Given the description of an element on the screen output the (x, y) to click on. 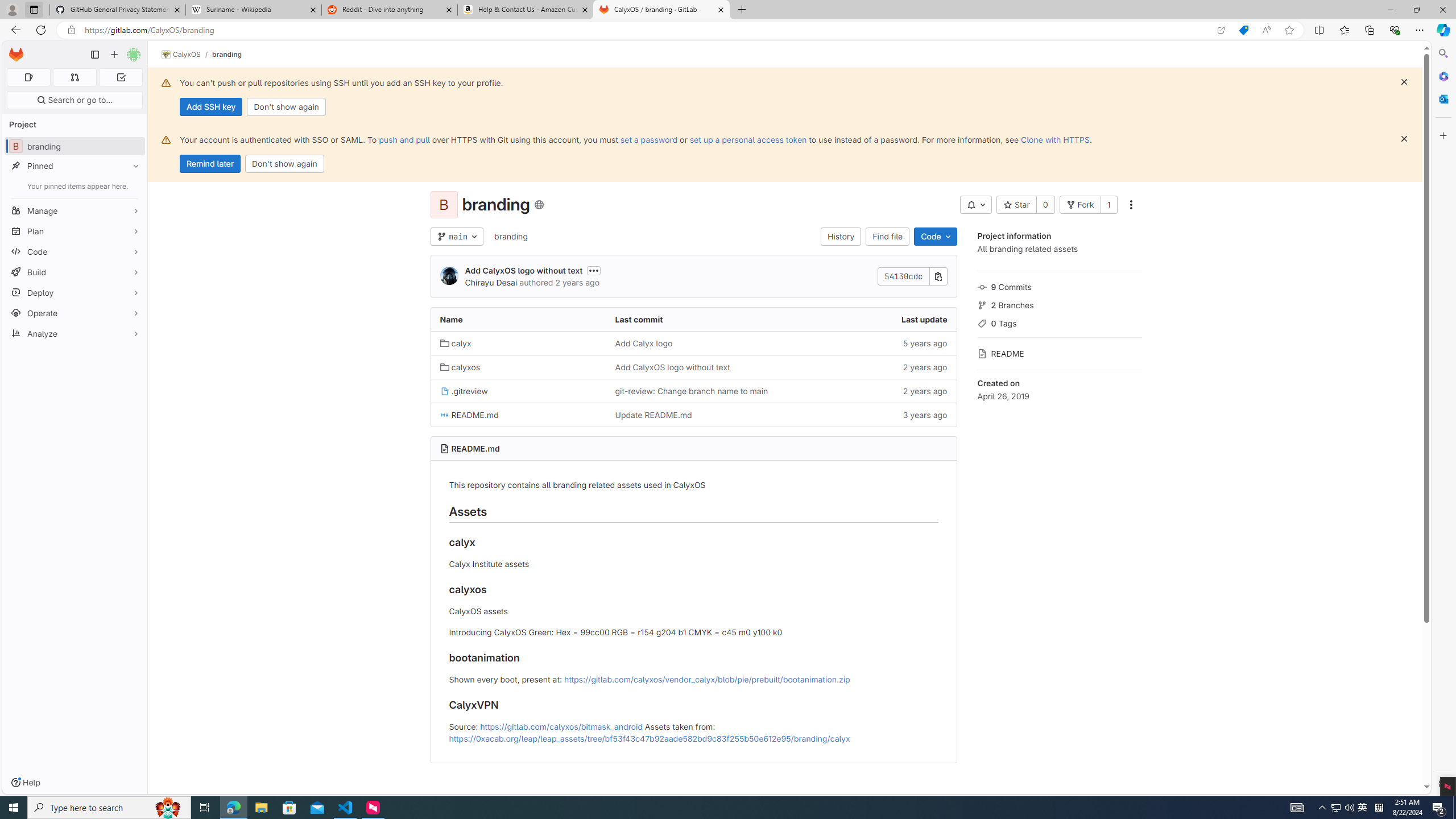
9 Commits (1058, 286)
git-review: Change branch name to main (693, 390)
Class: s16 icon gl-mr-3 gl-text-gray-500 (981, 353)
Bbranding (74, 145)
0 Tags (1058, 322)
Help & Contact Us - Amazon Customer Service (525, 9)
Help (25, 782)
Class: s16 gl-icon gl-button-icon  (1404, 138)
Last update (868, 319)
Code (935, 236)
Code (74, 251)
Plan (74, 230)
